Given the description of an element on the screen output the (x, y) to click on. 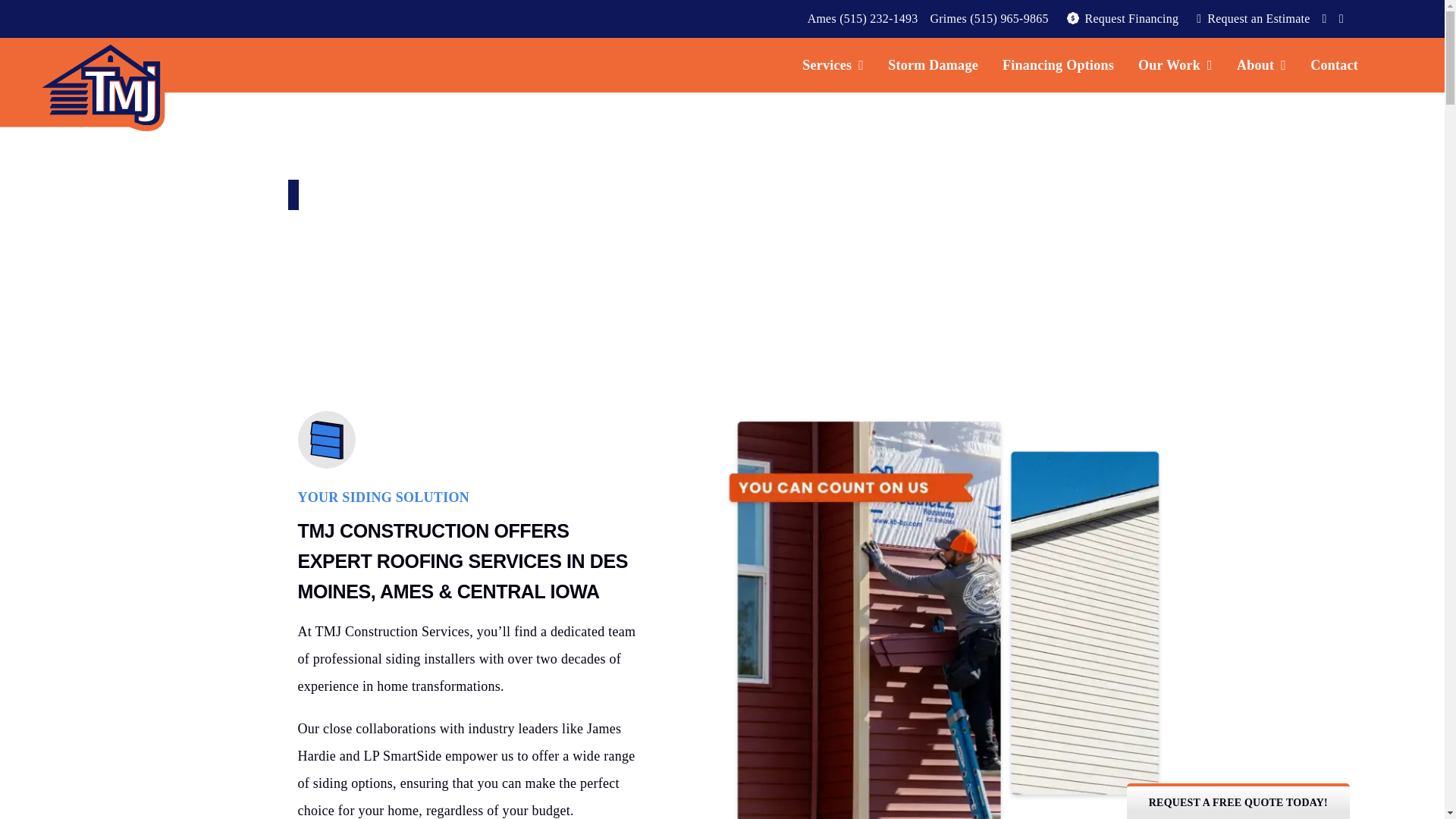
Financing Options (1057, 64)
TMJ services logo (83, 84)
About (1261, 64)
Group 293 (326, 439)
Contact (1334, 64)
Storm Damage (933, 64)
Services (833, 64)
Our Work (1174, 64)
Request Financing (1120, 18)
